Given the description of an element on the screen output the (x, y) to click on. 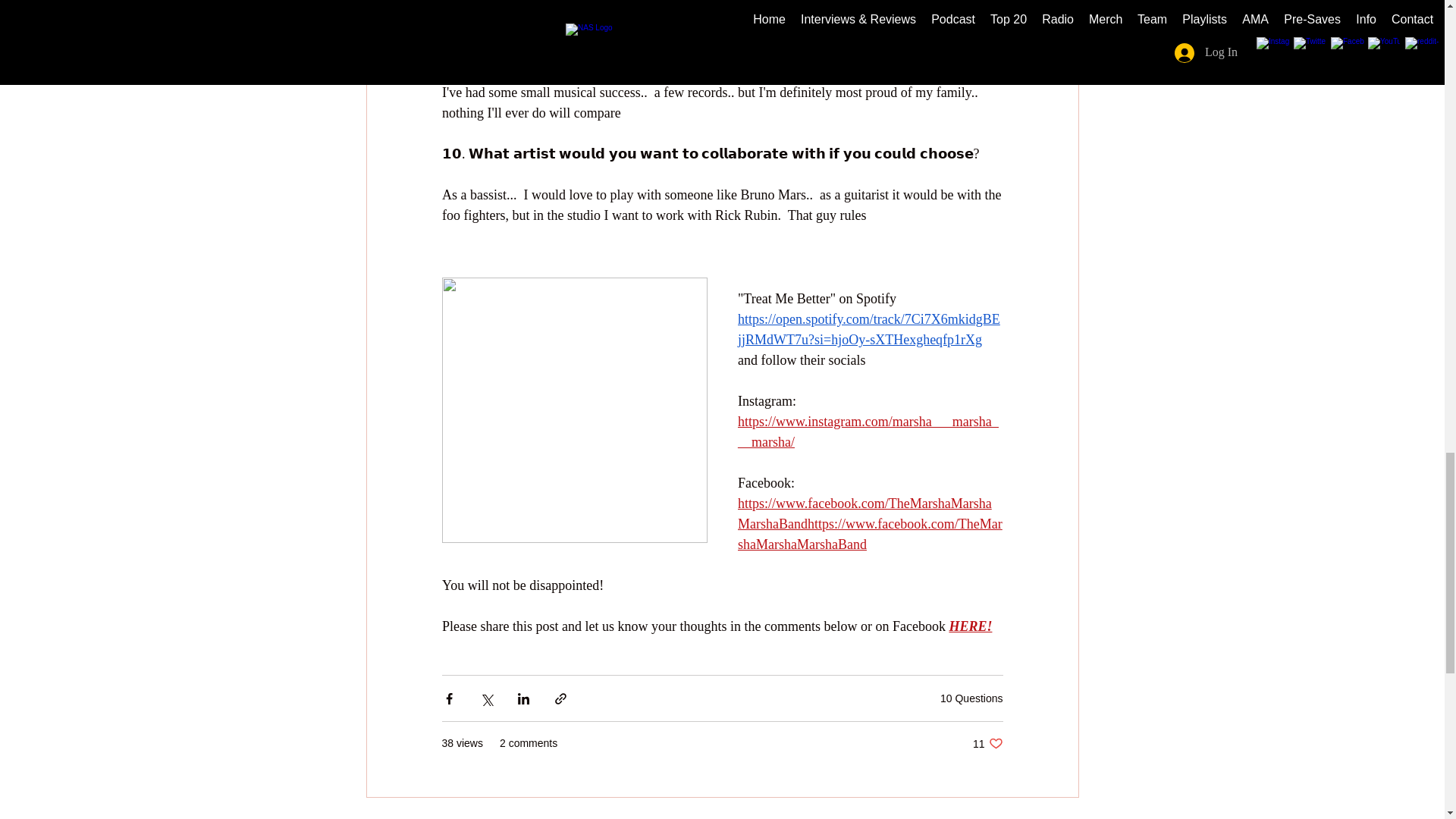
HERE! (970, 626)
10 Questions (987, 743)
